Given the description of an element on the screen output the (x, y) to click on. 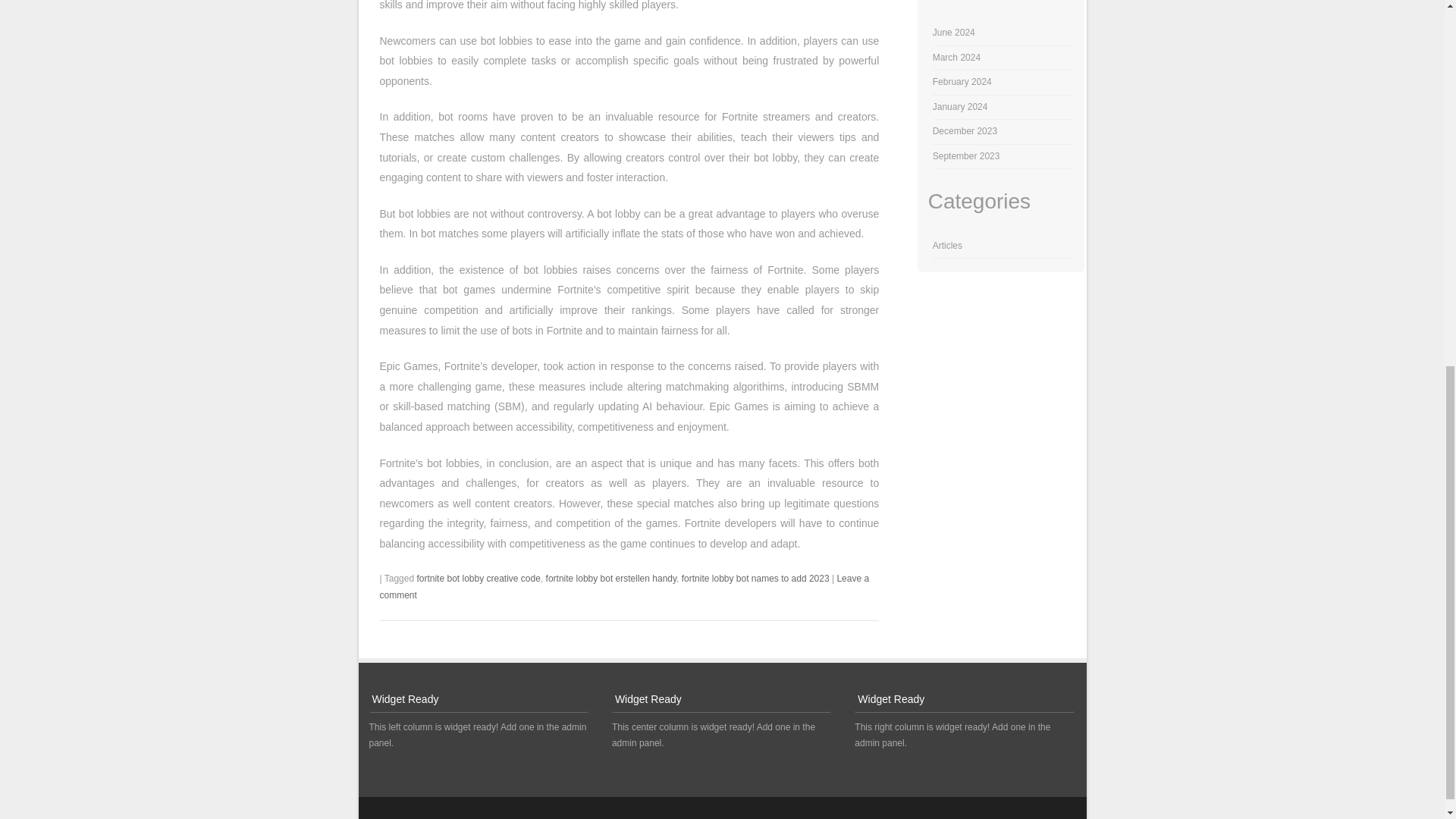
June 2024 (954, 32)
December 2023 (965, 131)
March 2024 (956, 57)
fortnite lobby bot erstellen handy (611, 578)
fortnite lobby bot names to add 2023 (755, 578)
fortnite bot lobby creative code (478, 578)
Leave a comment (623, 587)
Articles (947, 245)
February 2024 (962, 81)
January 2024 (960, 106)
